Given the description of an element on the screen output the (x, y) to click on. 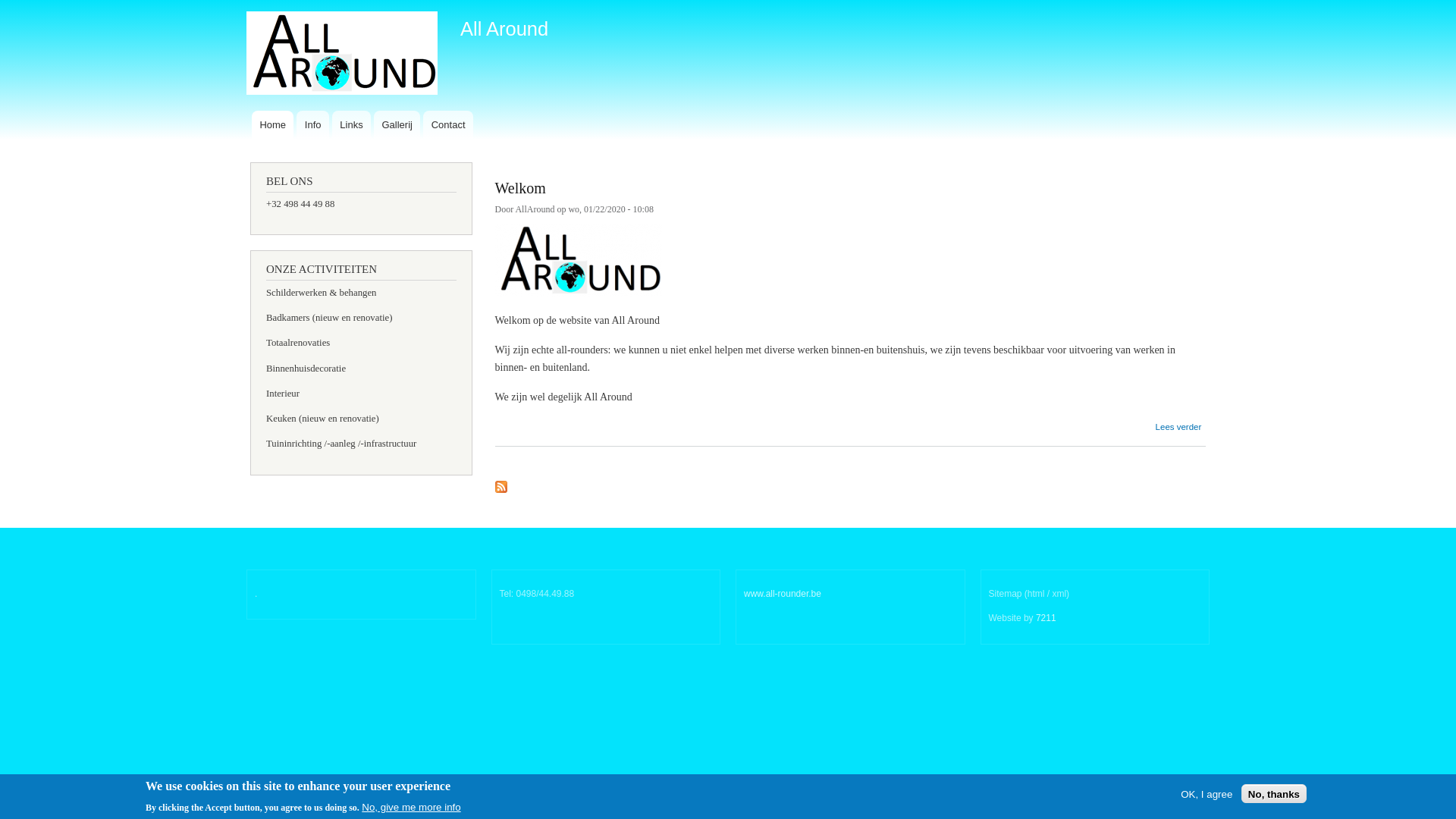
Lees verder
over Welkom Element type: text (1178, 421)
Info Element type: text (312, 124)
No, thanks Element type: text (1273, 793)
Abonneren op All Around RSS Element type: hover (500, 483)
Gallerij Element type: text (396, 124)
Links Element type: text (351, 124)
All Around Element type: text (504, 28)
Welkom Element type: text (519, 181)
Overslaan en naar de inhoud gaan Element type: text (701, 1)
7211 Element type: text (1045, 617)
OK, I agree Element type: text (1206, 793)
Home Element type: hover (343, 55)
Home Element type: text (272, 124)
Contact Element type: text (448, 124)
www.all-rounder.be Element type: text (782, 593)
No, give me more info Element type: text (410, 806)
